Given the description of an element on the screen output the (x, y) to click on. 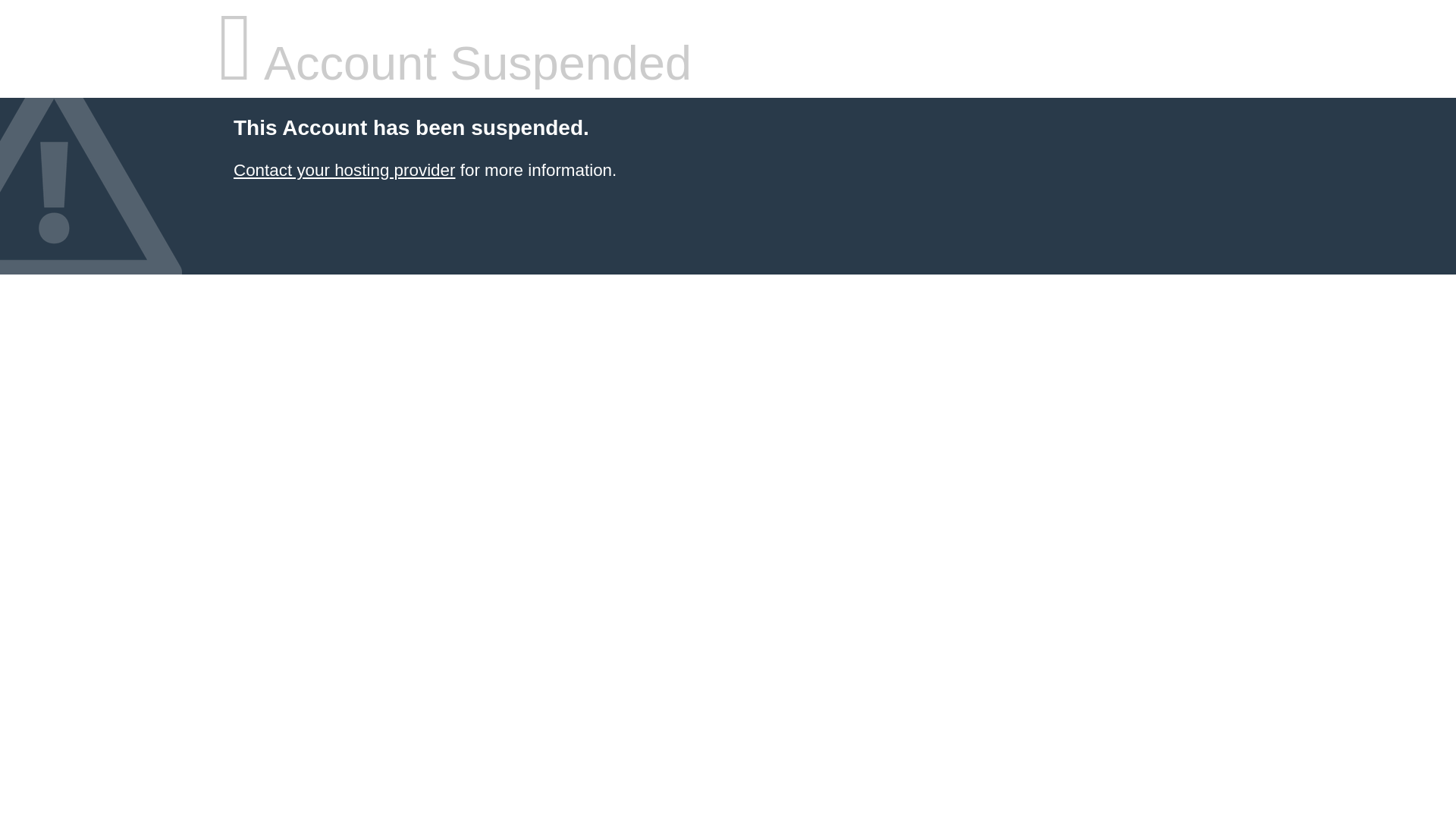
Contact your hosting provider (343, 169)
